Given the description of an element on the screen output the (x, y) to click on. 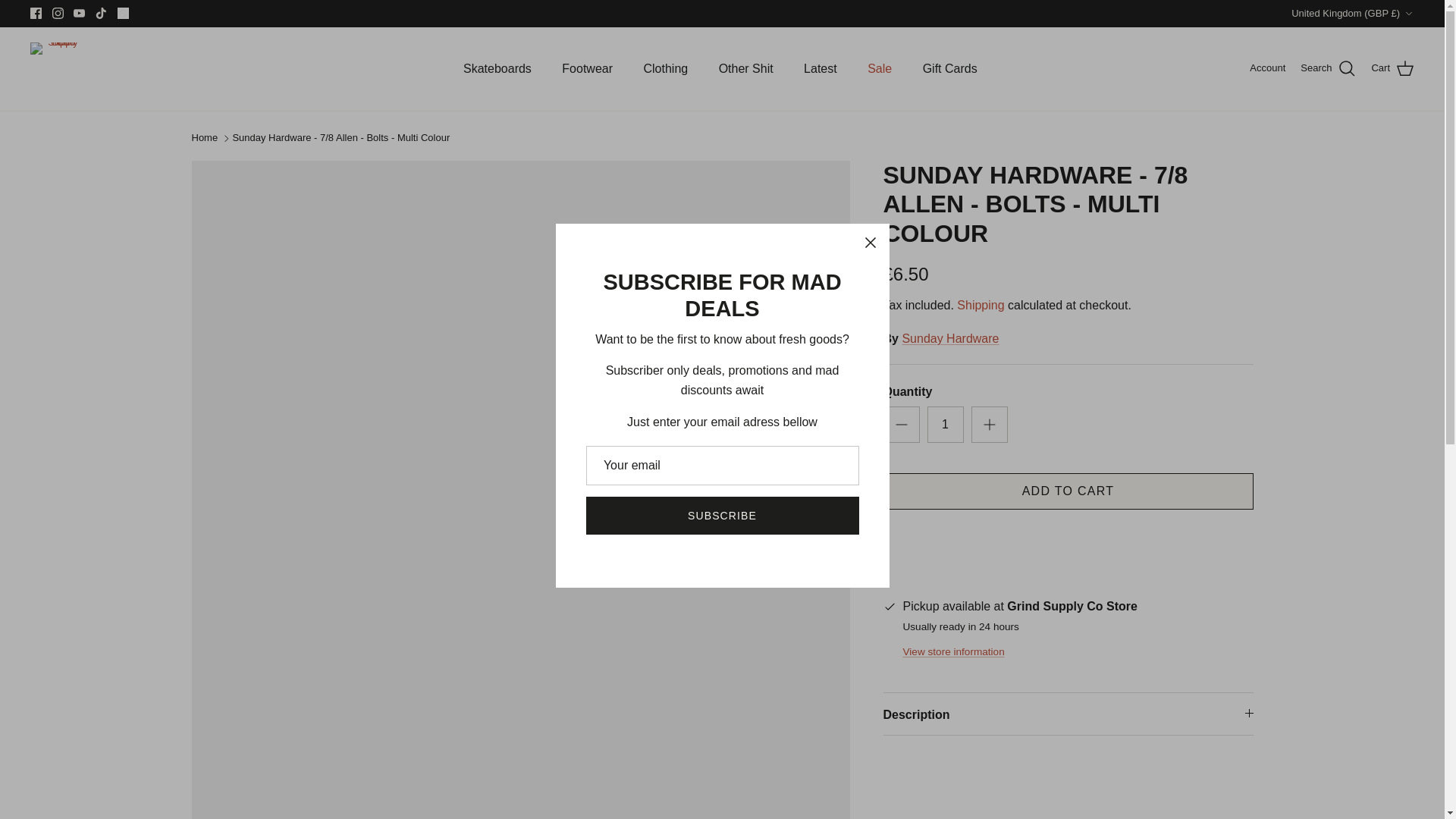
Instagram (58, 12)
1 (944, 424)
Plus (988, 424)
Down (1408, 13)
Facebook (36, 12)
Minus (900, 424)
Instagram (58, 12)
Youtube (79, 12)
Facebook (36, 12)
Youtube (79, 12)
Grind Supply Co (56, 68)
